Given the description of an element on the screen output the (x, y) to click on. 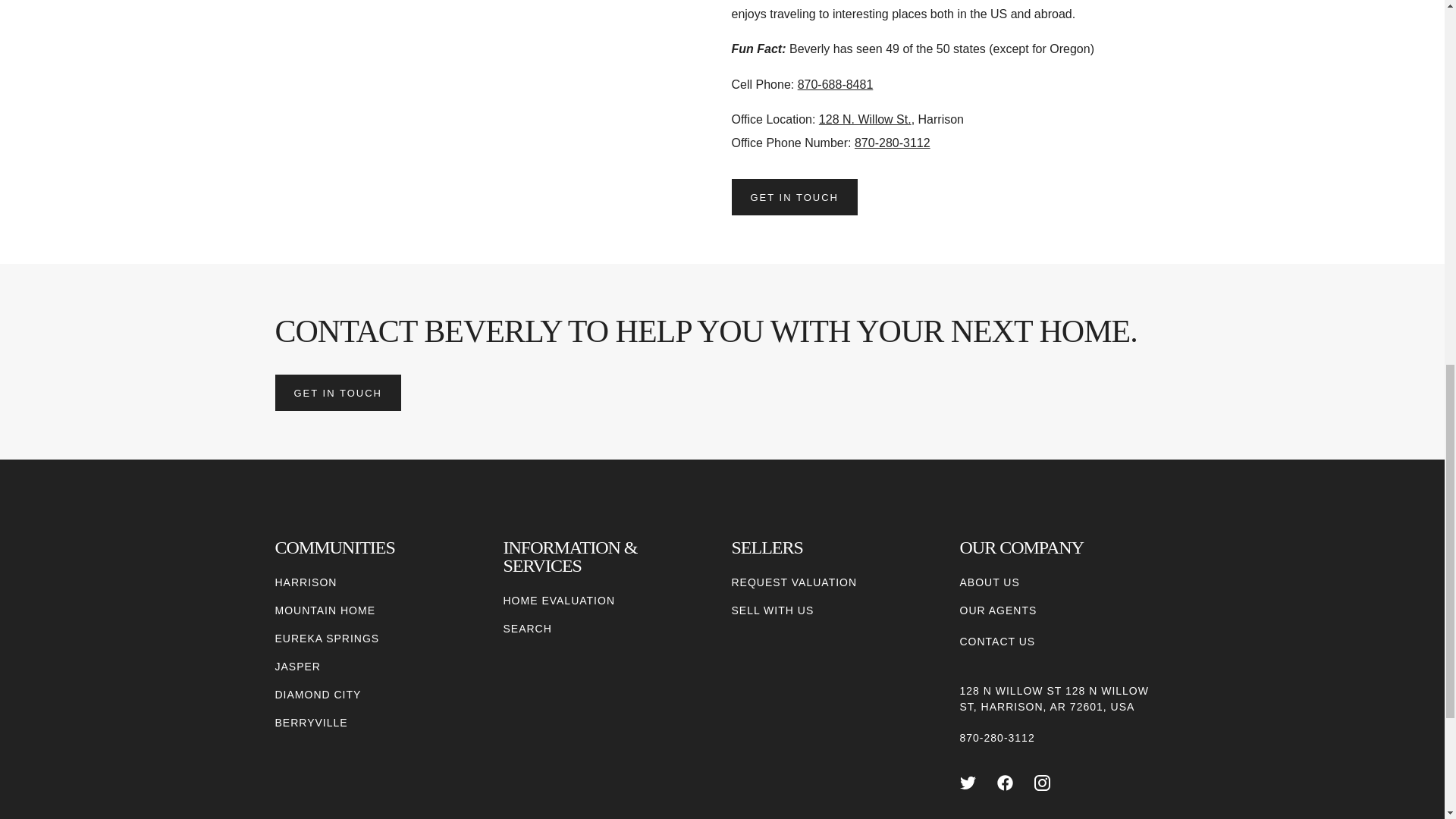
GET IN TOUCH (337, 392)
870-688-8481 (835, 83)
HARRISON (305, 582)
TWITTER (967, 782)
FACEBOOK (1005, 782)
128 N. Willow St. (864, 119)
MOUNTAIN HOME (325, 610)
870-280-3112 (892, 142)
GET IN TOUCH (793, 197)
